Given the description of an element on the screen output the (x, y) to click on. 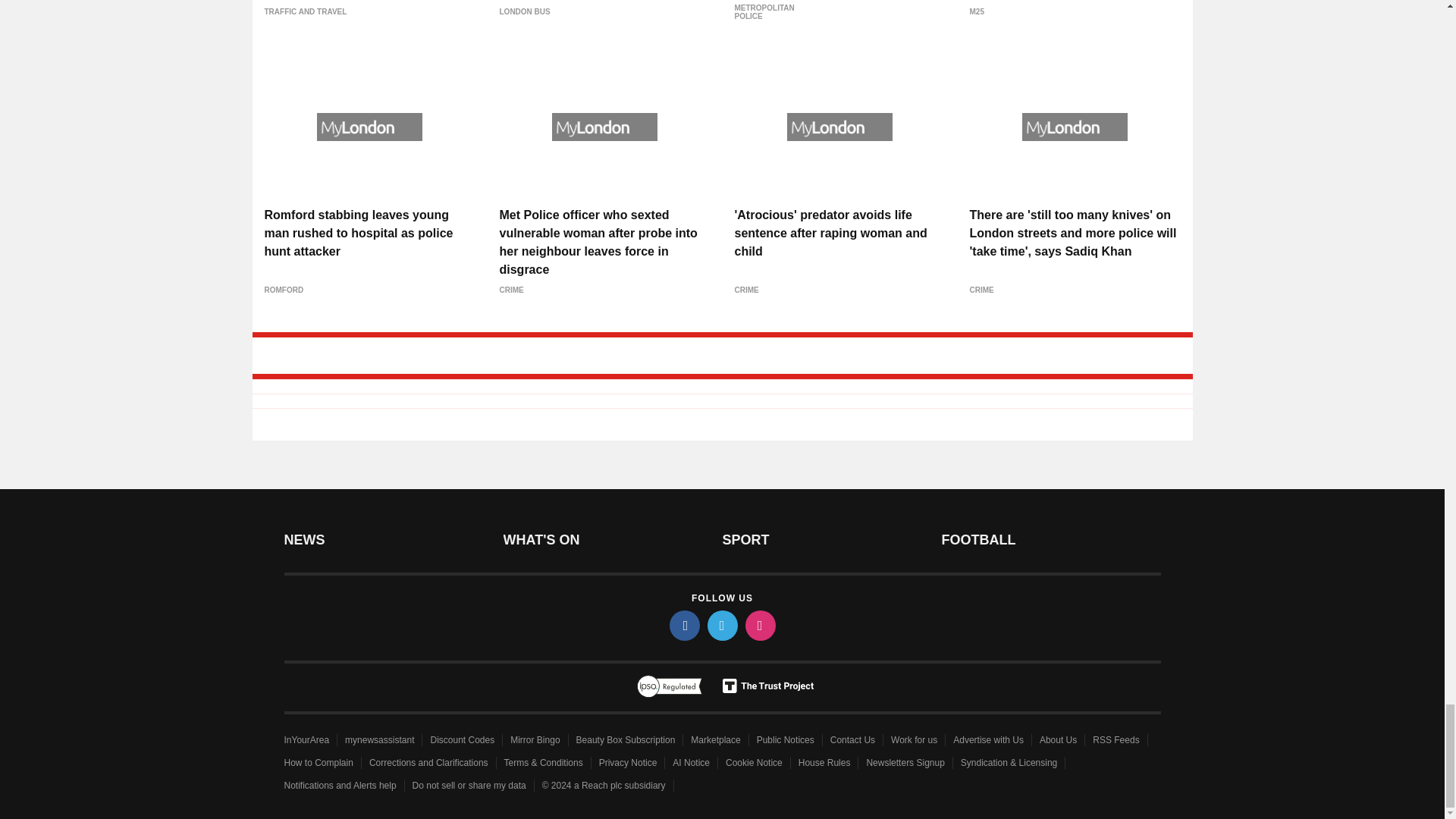
instagram (759, 625)
twitter (721, 625)
facebook (683, 625)
